Given the description of an element on the screen output the (x, y) to click on. 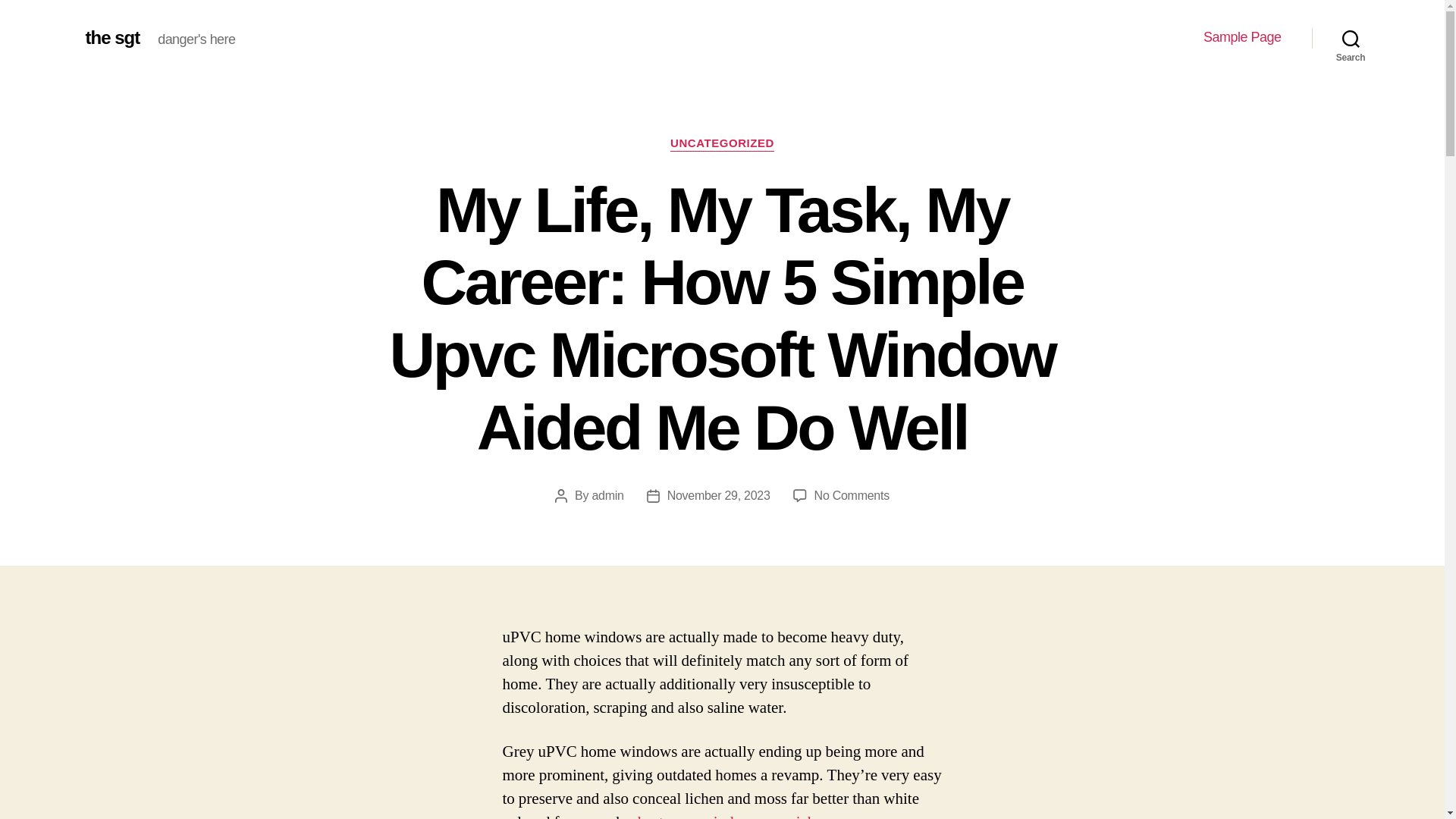
November 29, 2023 (718, 495)
UNCATEGORIZED (721, 143)
the sgt (111, 37)
admin (607, 495)
Sample Page (1242, 37)
Search (1350, 37)
best upvc windows norwich (726, 815)
